Given the description of an element on the screen output the (x, y) to click on. 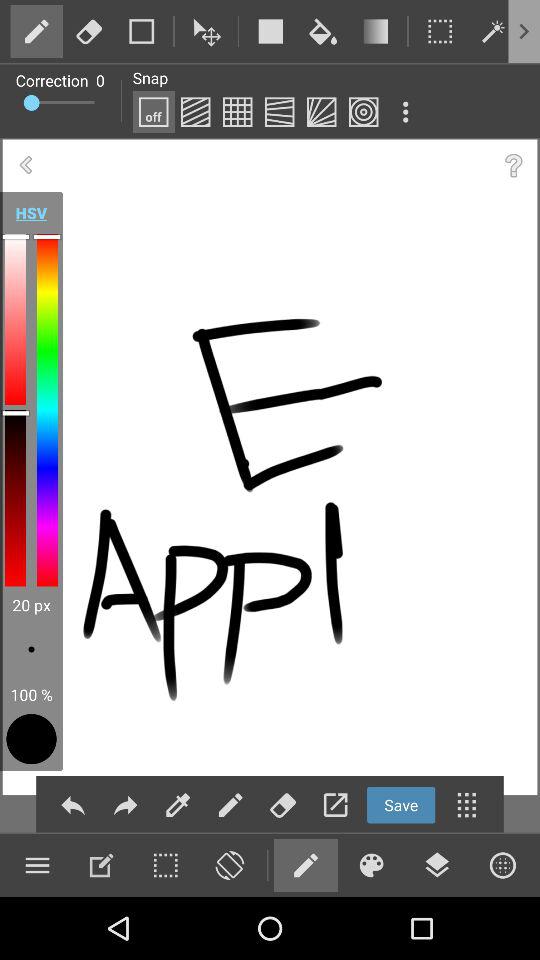
medibang paint icon expand icon (405, 112)
